Given the description of an element on the screen output the (x, y) to click on. 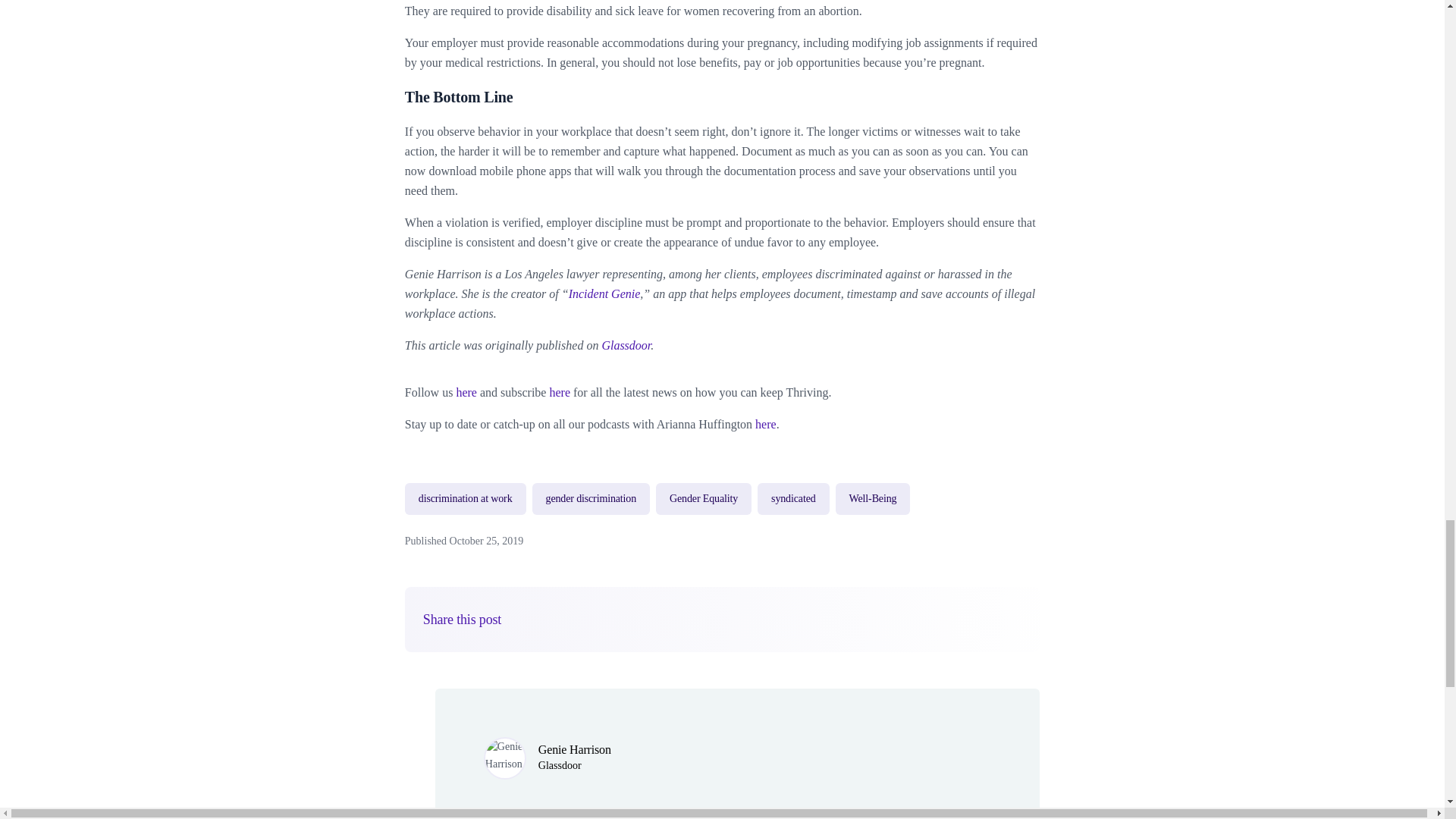
Genie Harrison (574, 748)
